Given the description of an element on the screen output the (x, y) to click on. 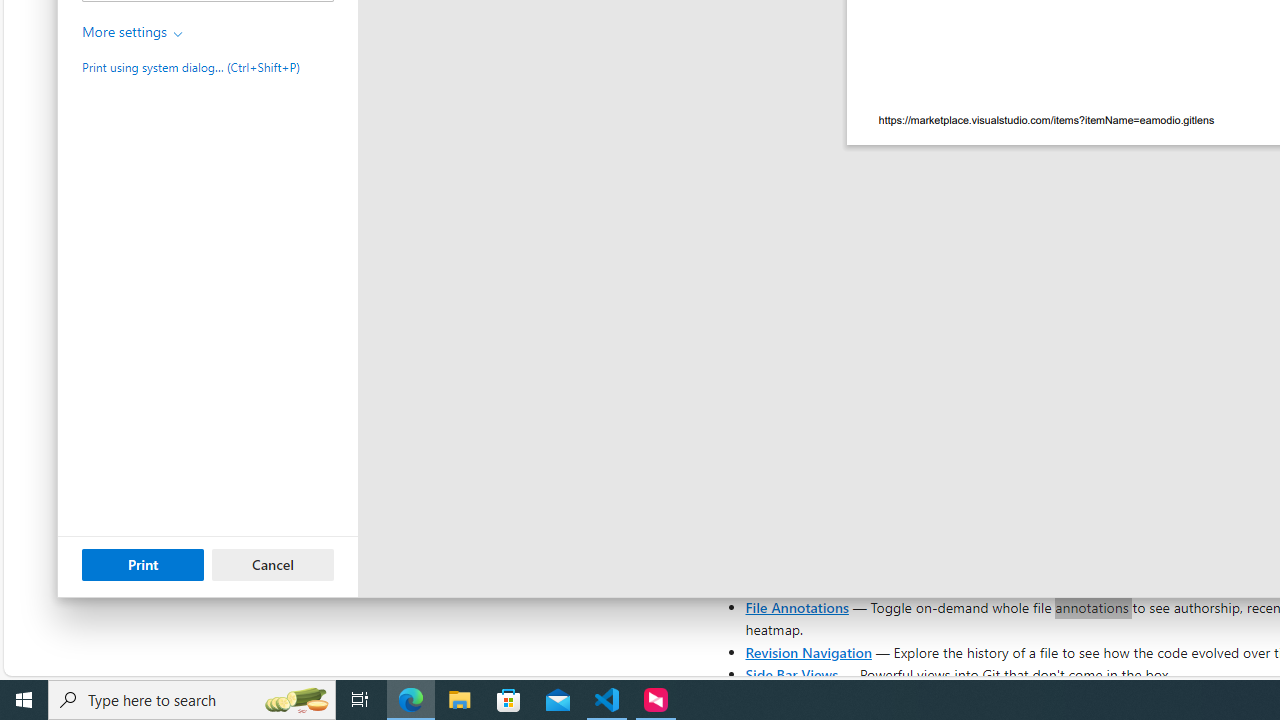
Print (142, 564)
Class: c0183 (178, 34)
More settings (133, 32)
Cancel (273, 564)
